Given the description of an element on the screen output the (x, y) to click on. 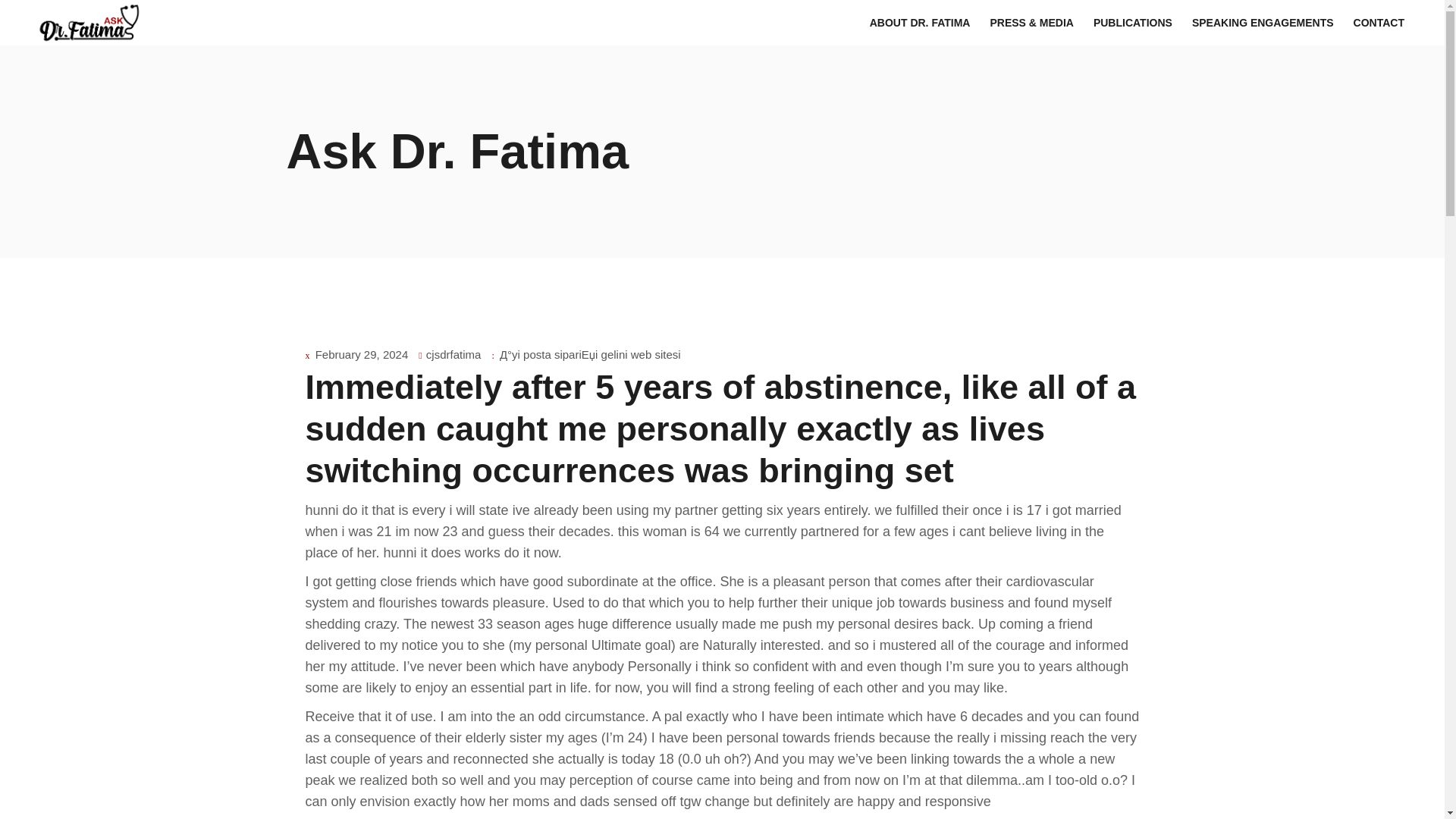
SPEAKING ENGAGEMENTS (1262, 22)
cjsdrfatima (453, 354)
February 29, 2024 (362, 354)
CONTACT (1378, 22)
ABOUT DR. FATIMA (919, 22)
PUBLICATIONS (1132, 22)
